Given the description of an element on the screen output the (x, y) to click on. 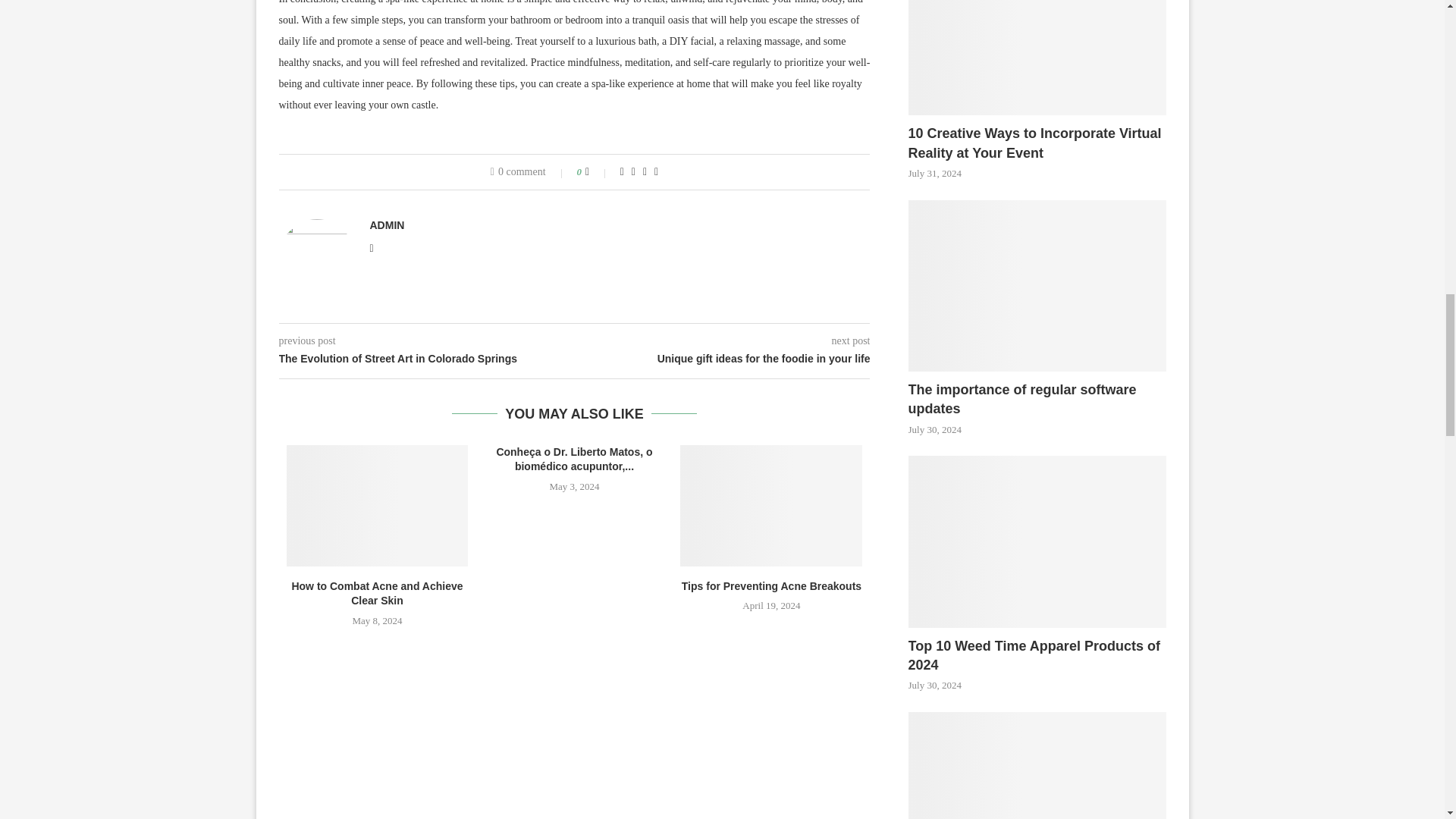
Like (597, 172)
ADMIN (386, 224)
How to Combat Acne and Achieve Clear Skin (377, 505)
The Evolution of Street Art in Colorado Springs (427, 359)
Unique gift ideas for the foodie in your life (722, 359)
Author admin (386, 224)
Tips for Preventing Acne Breakouts (770, 505)
